Given the description of an element on the screen output the (x, y) to click on. 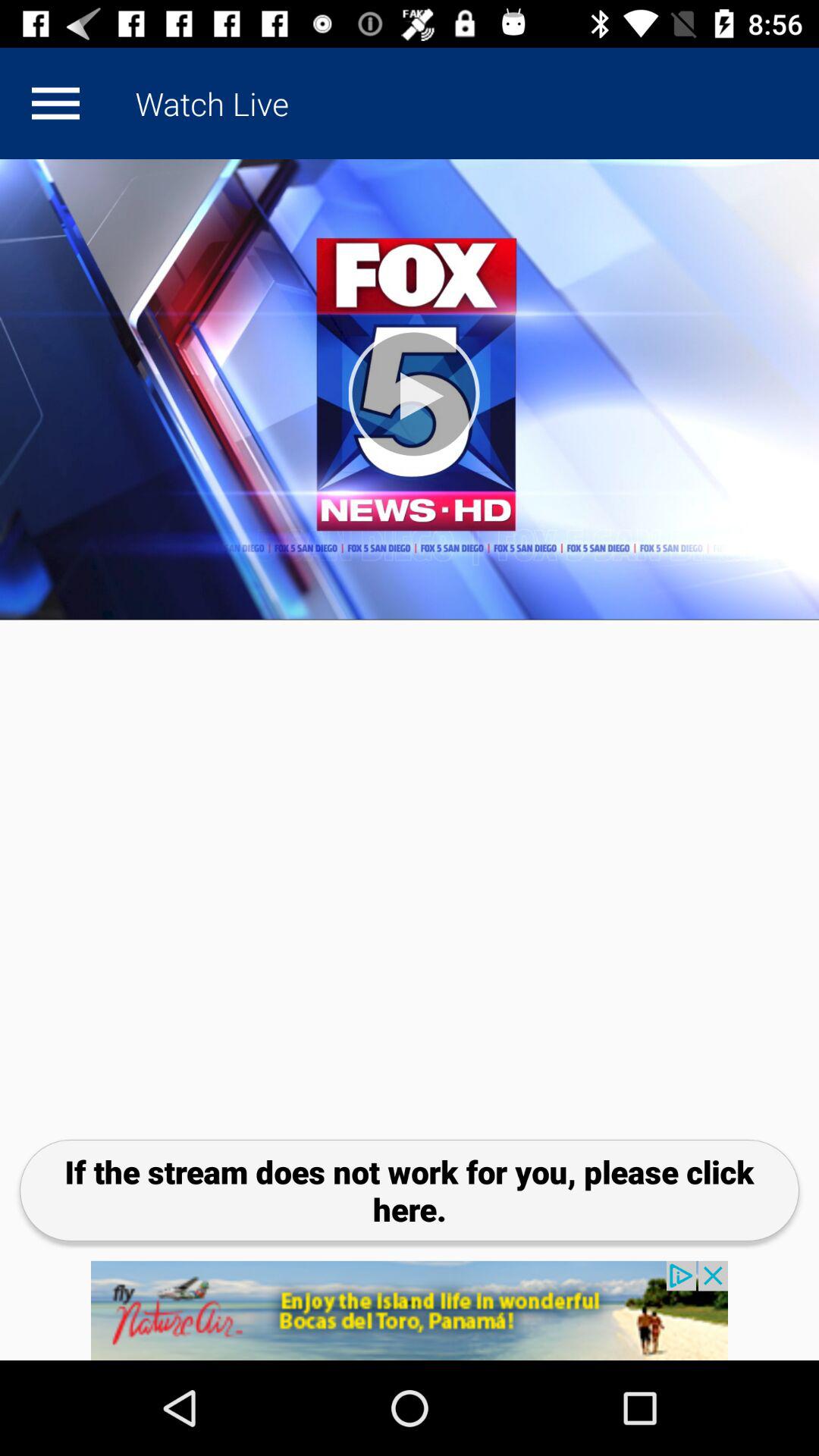
stteting (55, 103)
